Given the description of an element on the screen output the (x, y) to click on. 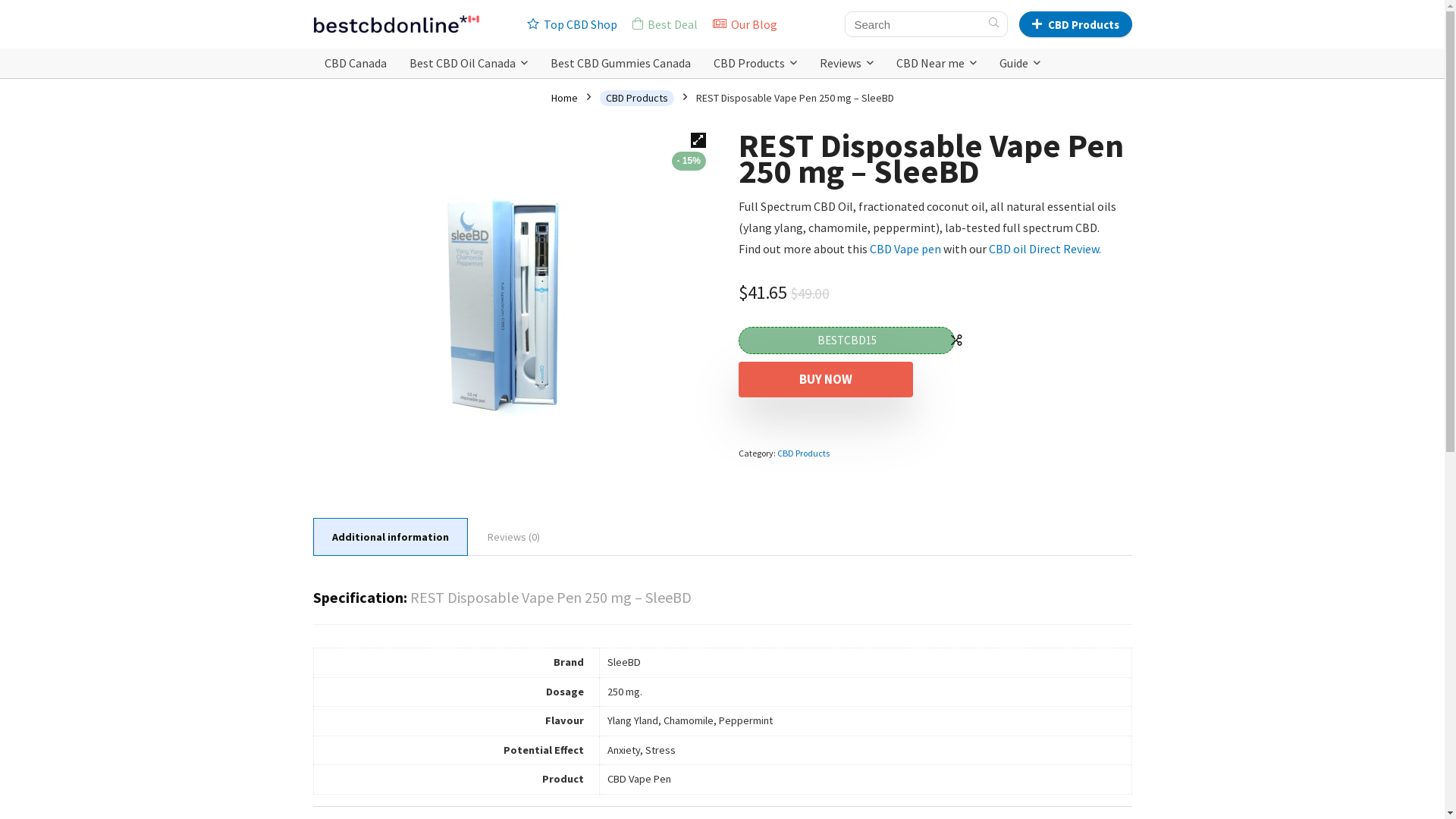
CBD Products Element type: text (755, 63)
CBD Products Element type: text (1075, 24)
CBD Vape pen Element type: text (906, 248)
Additional information Element type: text (390, 536)
Reviews (0) Element type: text (513, 536)
Reviews Element type: text (846, 63)
CBD Canada Element type: text (354, 63)
CBD Products Element type: text (636, 98)
Top CBD Shop Element type: text (571, 23)
Our Blog Element type: text (744, 23)
Best Deal Element type: text (664, 23)
SleeBD REST Disposable Vape Pen Element type: hover (509, 302)
CBD Products Element type: text (803, 452)
BUY NOW Element type: text (825, 379)
Guide Element type: text (1019, 63)
CBD oil Direct Review. Element type: text (1044, 248)
Home Element type: text (563, 97)
Best CBD Gummies Canada Element type: text (619, 63)
CBD Near me Element type: text (935, 63)
Best CBD Oil Canada Element type: text (467, 63)
